Given the description of an element on the screen output the (x, y) to click on. 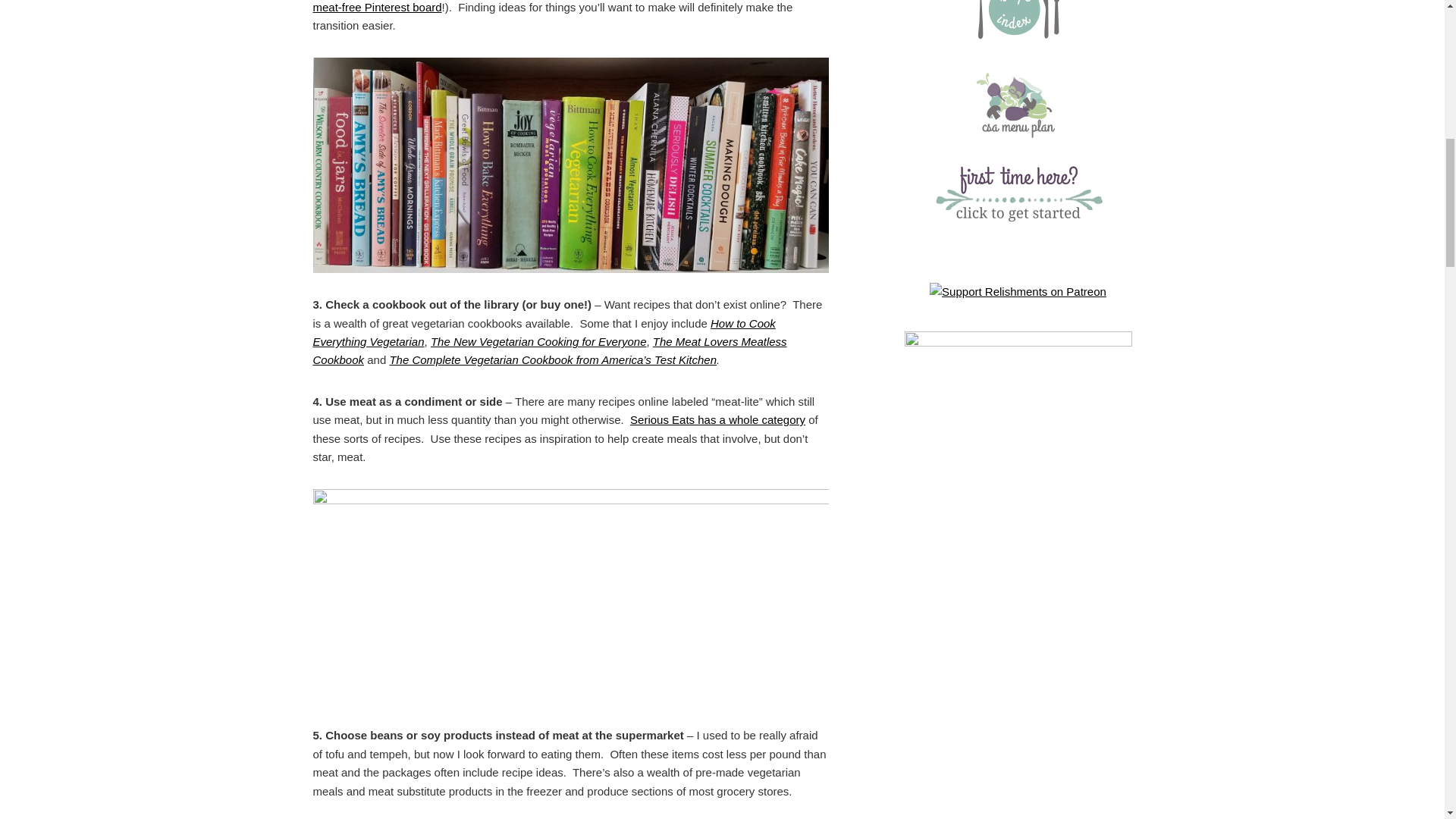
The New Vegetarian Cooking for Everyone (538, 341)
my meat-free Pinterest board (569, 6)
Serious Eats has a whole category (717, 419)
The Meat Lovers Meatless Cookbook (549, 350)
How to Cook Everything Vegetarian (543, 332)
